Given the description of an element on the screen output the (x, y) to click on. 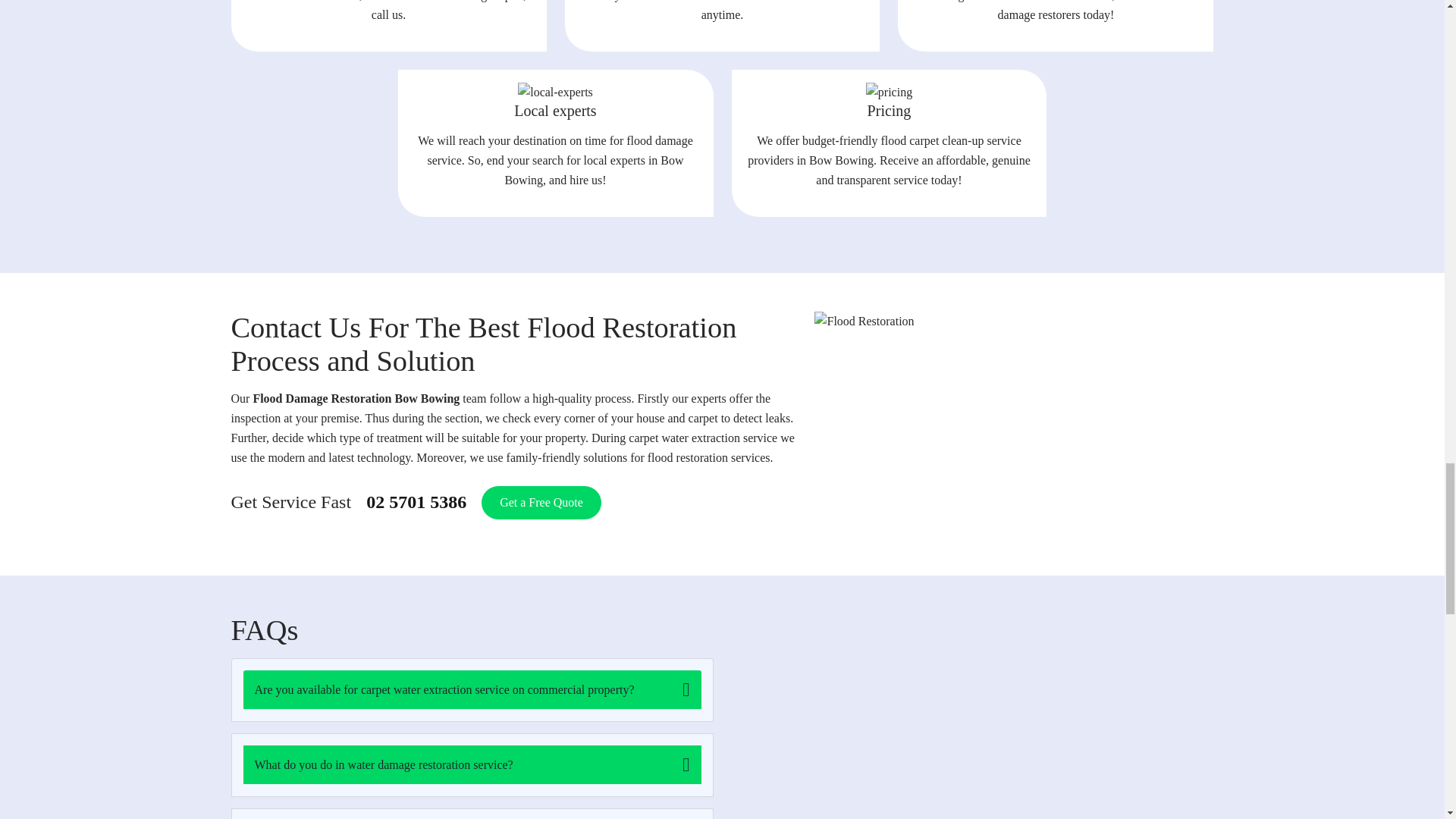
What do you do in water damage restoration service? (471, 764)
Get a Free Quote (541, 502)
02 5701 5386 (415, 501)
